Given the description of an element on the screen output the (x, y) to click on. 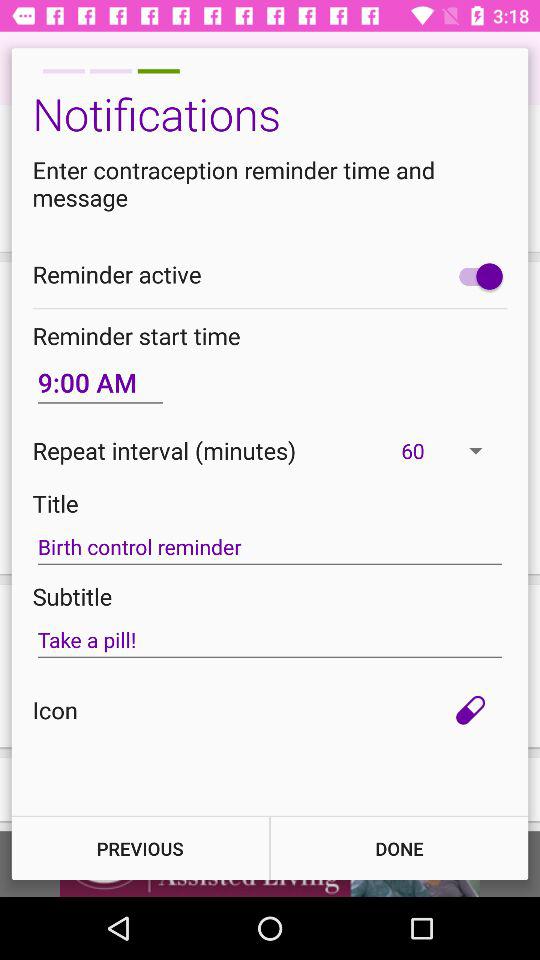
turn on item next to the reminder active (476, 275)
